Given the description of an element on the screen output the (x, y) to click on. 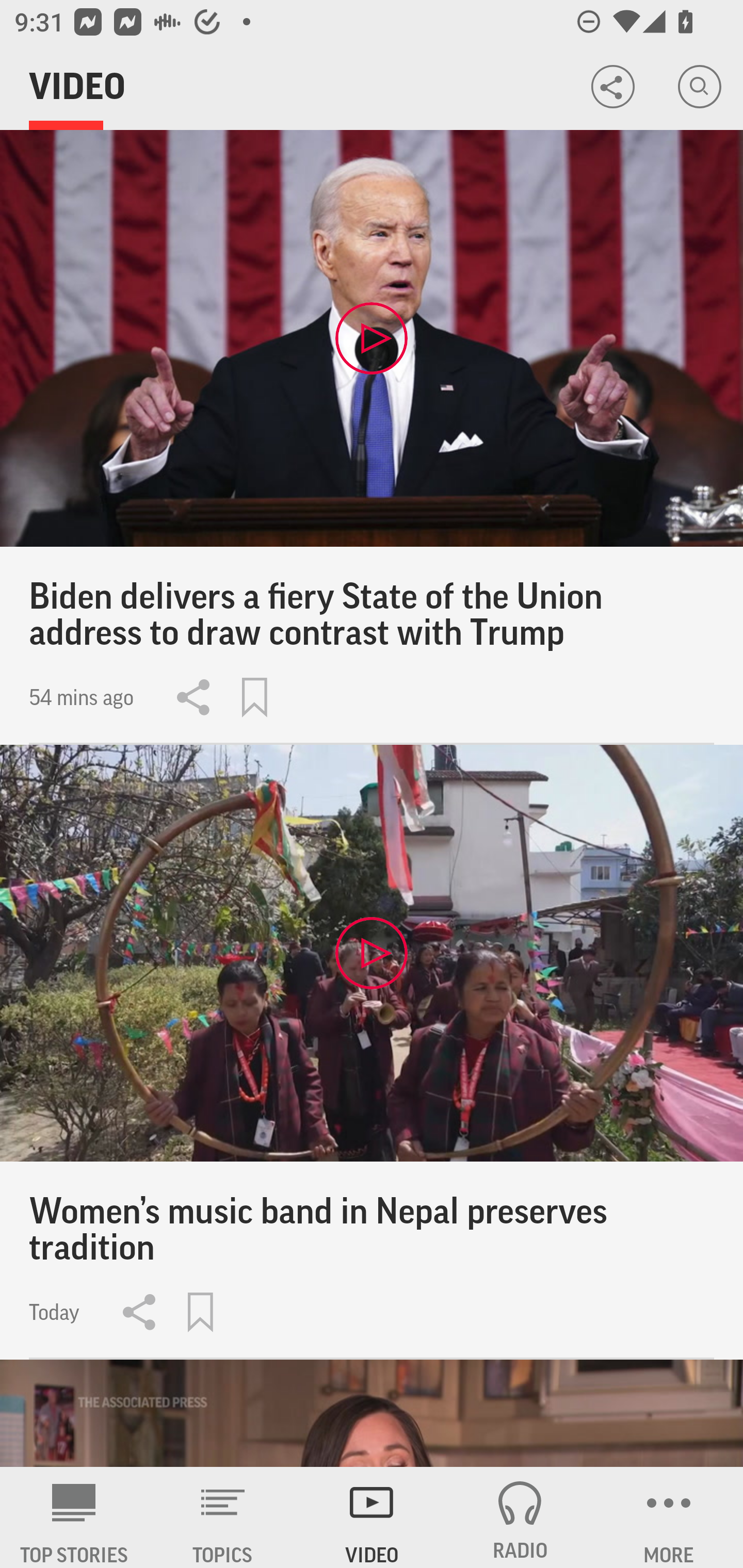
AP News TOP STORIES (74, 1517)
TOPICS (222, 1517)
VIDEO (371, 1517)
RADIO (519, 1517)
MORE (668, 1517)
